Given the description of an element on the screen output the (x, y) to click on. 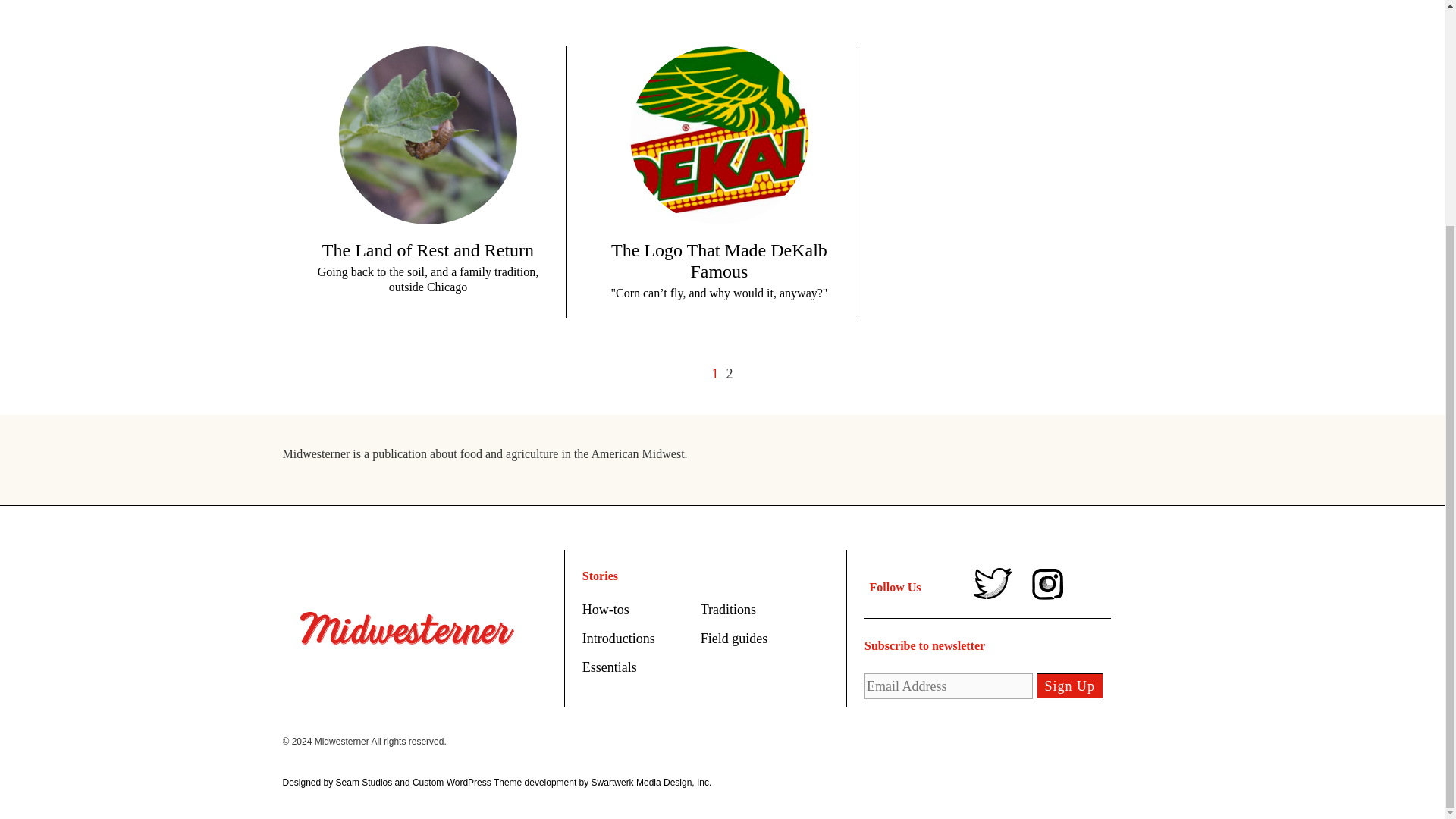
Designed by Seam Studios (336, 782)
Essentials (609, 667)
The Logo That Made DeKalb Famous (719, 260)
Traditions (727, 609)
Field guides (734, 638)
How-tos (605, 609)
Sign Up (1069, 685)
Sign Up (1069, 685)
The Land of Rest and Return (427, 250)
Introductions (618, 638)
